Given the description of an element on the screen output the (x, y) to click on. 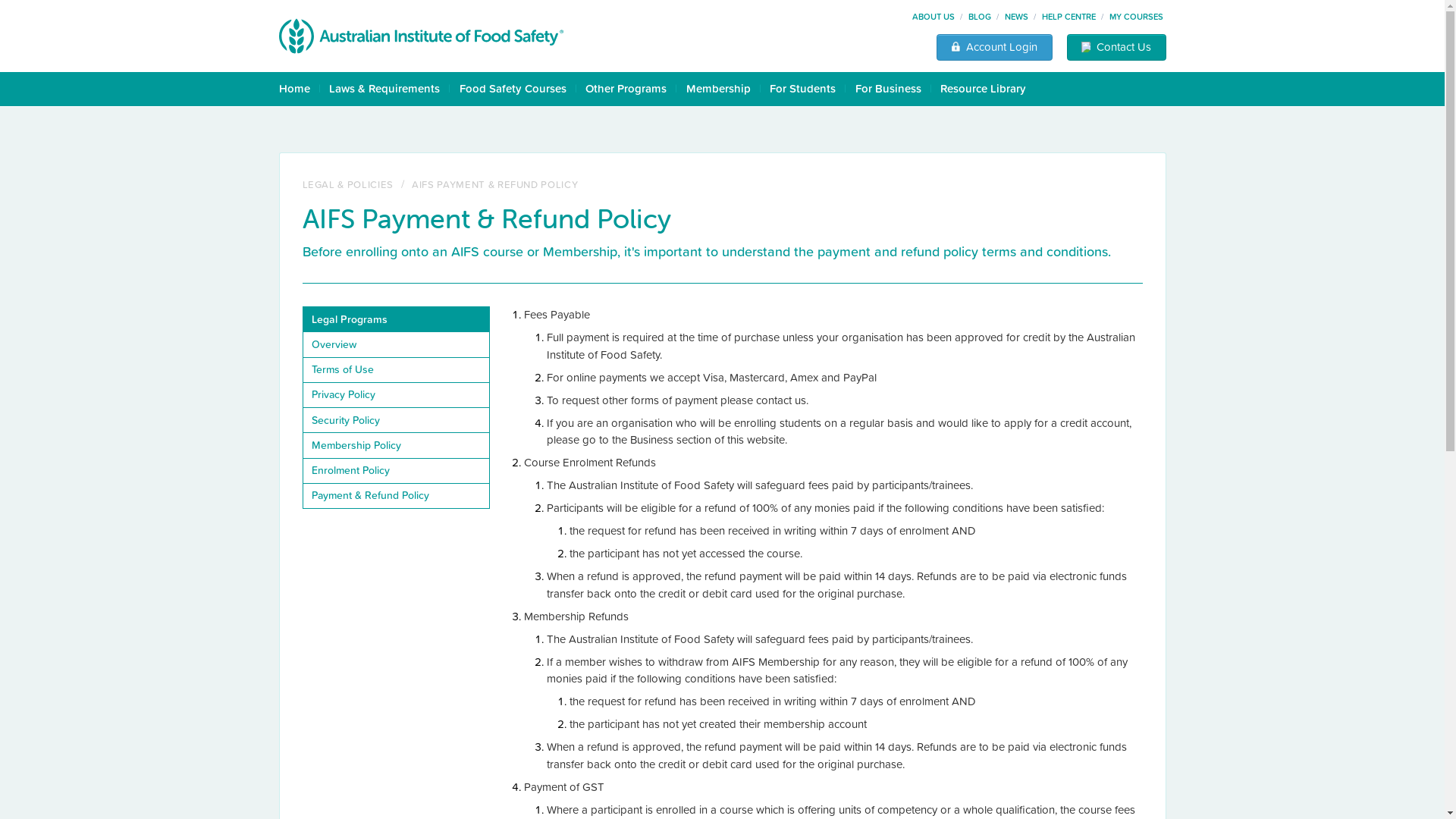
HELP CENTRE Element type: text (1068, 16)
AIFS PAYMENT & REFUND POLICY Element type: text (494, 184)
Membership Policy Element type: text (395, 445)
For Students Element type: text (802, 88)
Food Safety Courses Element type: text (512, 88)
Terms of Use Element type: text (395, 369)
MY COURSES Element type: text (1136, 16)
Contact Us Element type: text (1115, 47)
BLOG Element type: text (979, 16)
ABOUT US Element type: text (933, 16)
Overview Element type: text (395, 344)
Account Login Element type: text (994, 47)
Home Element type: text (294, 88)
Laws & Requirements Element type: text (384, 88)
NEWS Element type: text (1016, 16)
LEGAL & POLICIES Element type: text (347, 184)
For Business Element type: text (888, 88)
Enrolment Policy Element type: text (395, 470)
Privacy Policy Element type: text (395, 394)
Security Policy Element type: text (395, 420)
Payment & Refund Policy Element type: text (395, 495)
Other Programs Element type: text (625, 88)
Resource Library Element type: text (983, 88)
Membership Element type: text (717, 88)
